Given the description of an element on the screen output the (x, y) to click on. 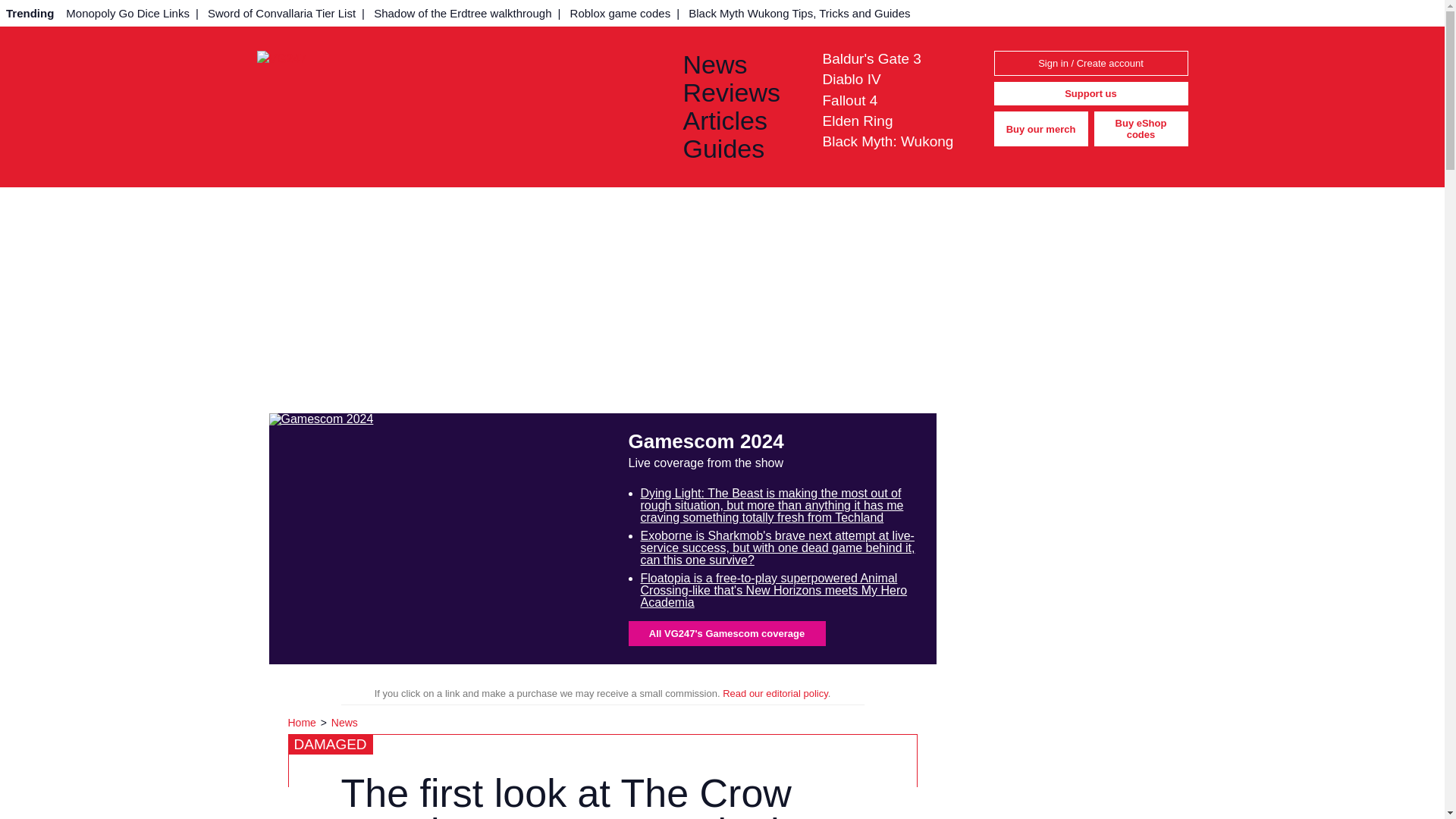
News (739, 64)
Baldur's Gate 3 (871, 58)
News (344, 722)
Black Myth Wukong Tips, Tricks and Guides (798, 13)
Roblox game codes (620, 13)
Elden Ring (857, 120)
Roblox game codes (620, 13)
Monopoly Go Dice Links (127, 13)
Sword of Convallaria Tier List (281, 13)
Guides (739, 148)
